Given the description of an element on the screen output the (x, y) to click on. 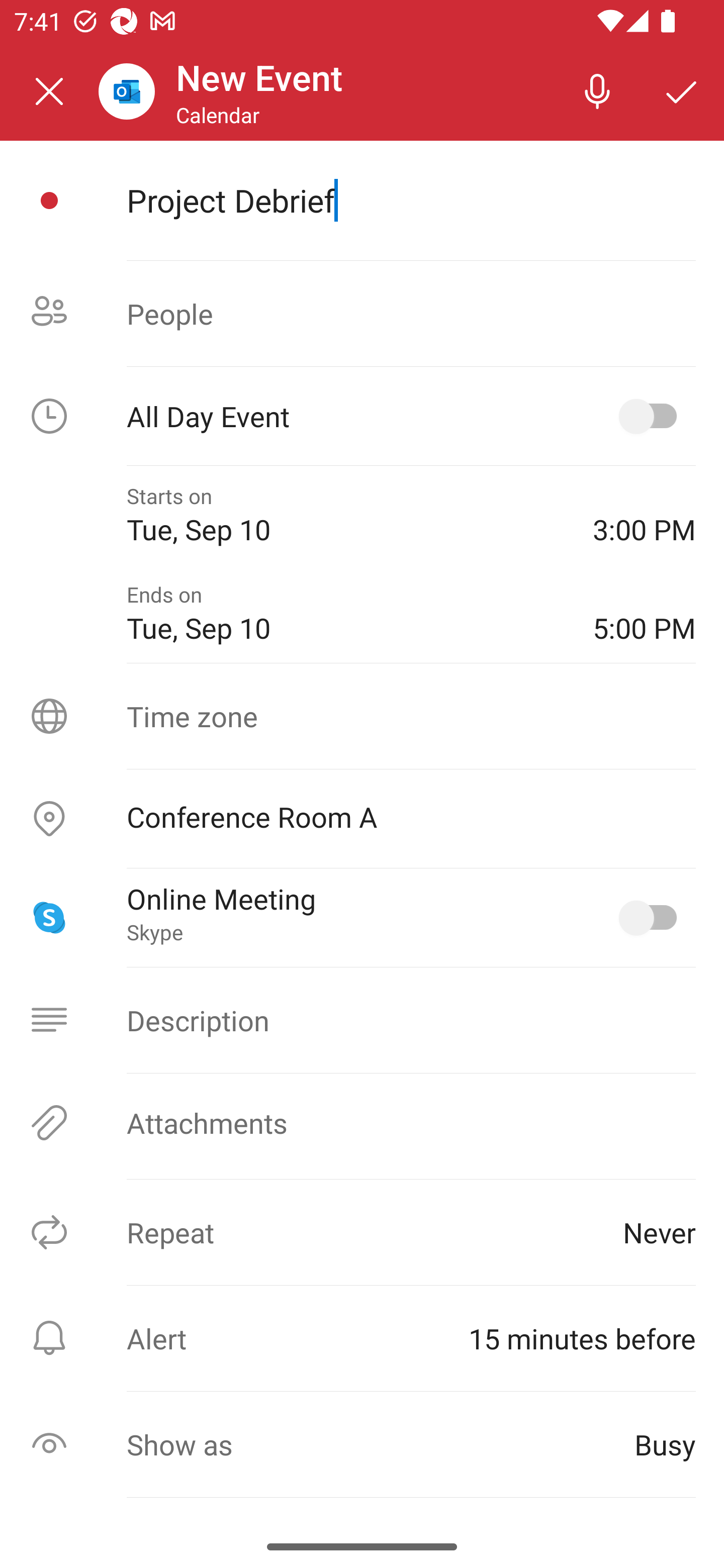
Close (49, 91)
Save (681, 90)
Project Debrief (410, 200)
Event icon picker (48, 200)
People (362, 313)
All Day Event (362, 415)
Starts on Tue, Sep 10 (345, 514)
3:00 PM (644, 514)
Ends on Tue, Sep 10 (345, 613)
5:00 PM (644, 613)
Time zone (362, 715)
Location, Conference Room A Conference Room A (362, 818)
Online Meeting, Skype selected (651, 917)
Description (362, 1019)
Attachments (362, 1122)
Repeat Never (362, 1232)
Alert ⁨15 minutes before (362, 1337)
Show as Busy (362, 1444)
